Given the description of an element on the screen output the (x, y) to click on. 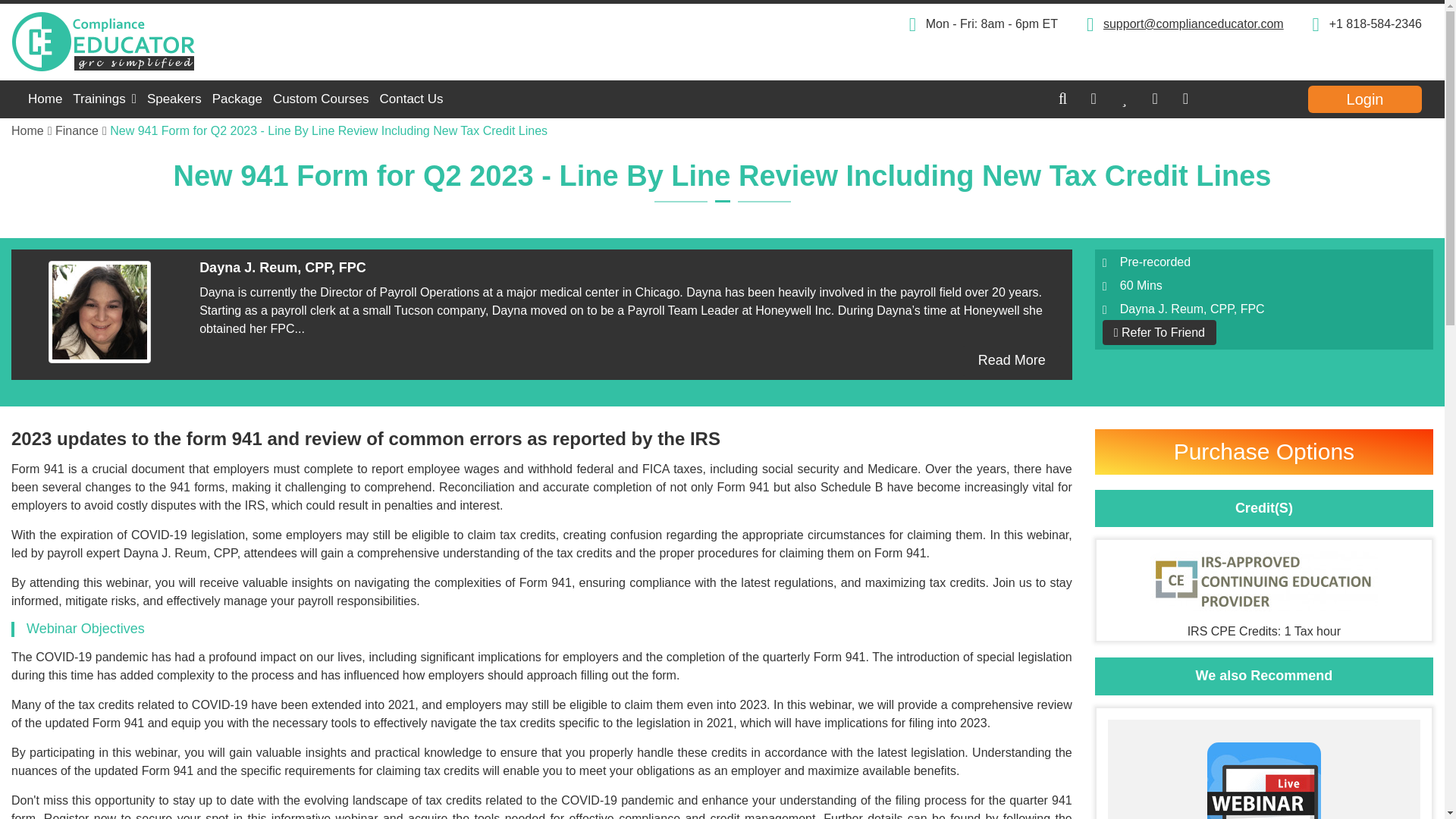
Contact Us (411, 98)
Search (1232, 99)
Login (1364, 99)
CompliancEducator (180, 41)
Package (236, 98)
Login (1184, 97)
Home (31, 130)
Cart (1155, 97)
Trainings (103, 98)
Dayna J. Reum, CPP, FPC (99, 312)
